Given the description of an element on the screen output the (x, y) to click on. 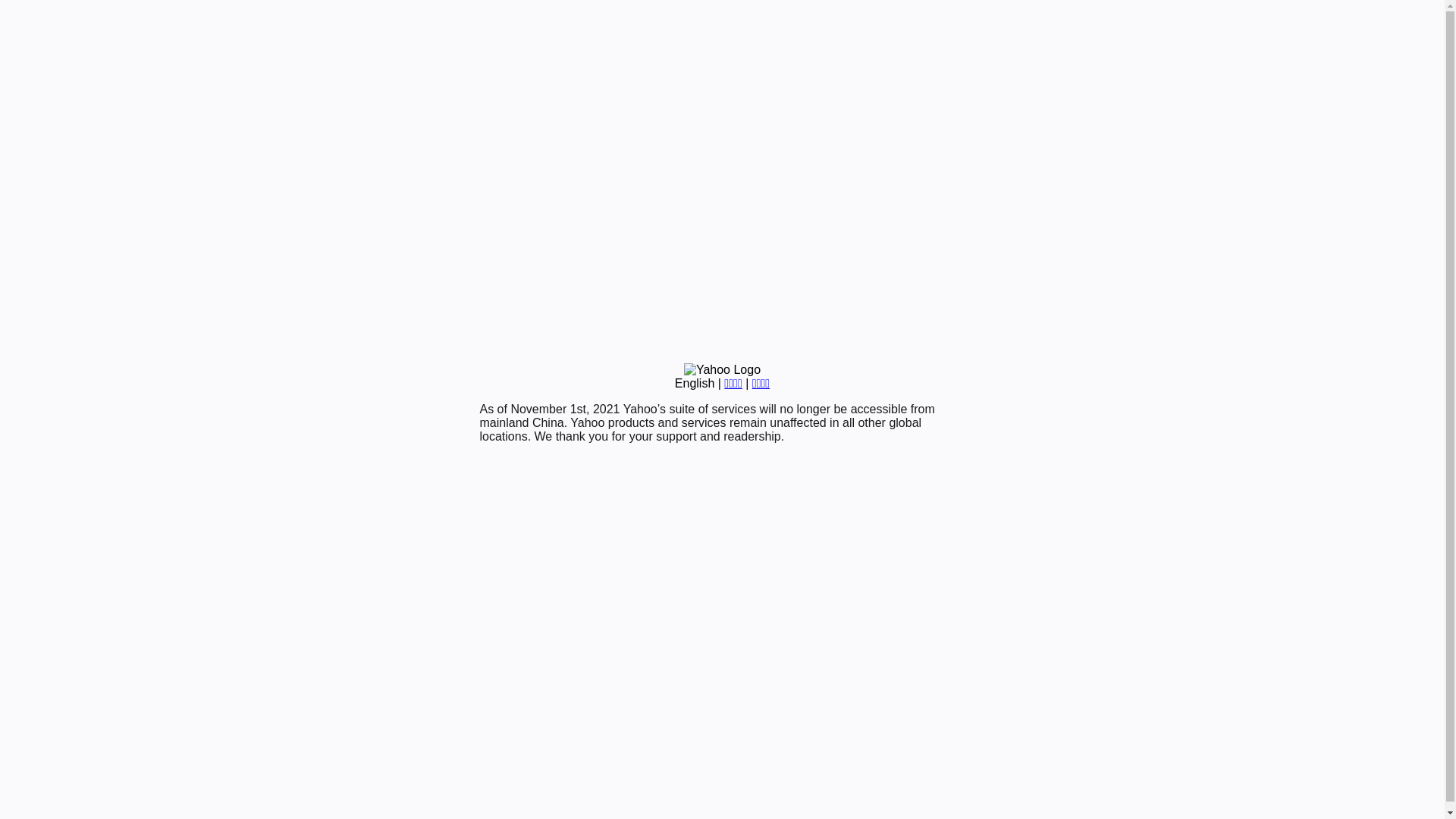
English Element type: text (694, 382)
